Given the description of an element on the screen output the (x, y) to click on. 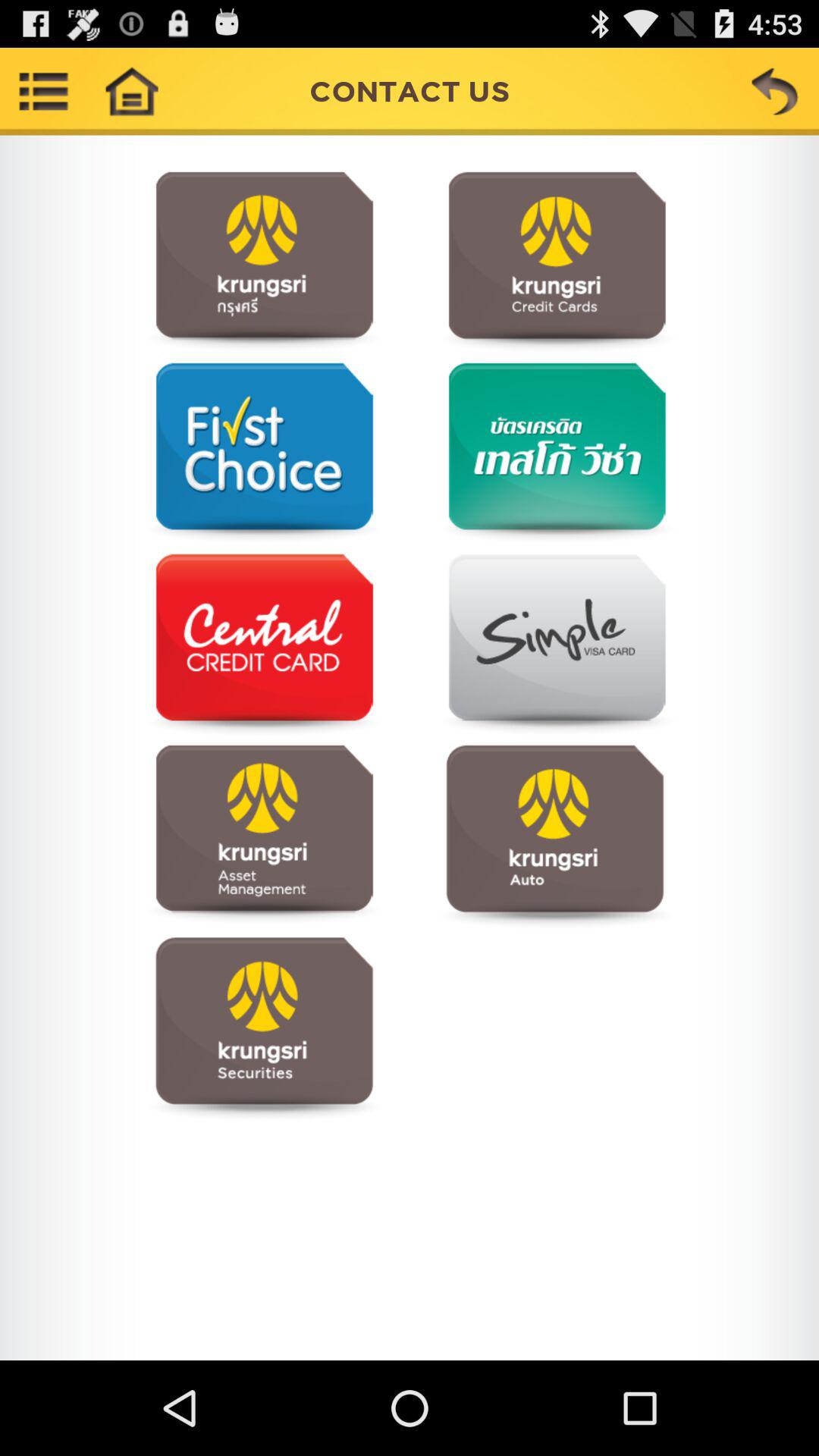
select this app (554, 453)
